Given the description of an element on the screen output the (x, y) to click on. 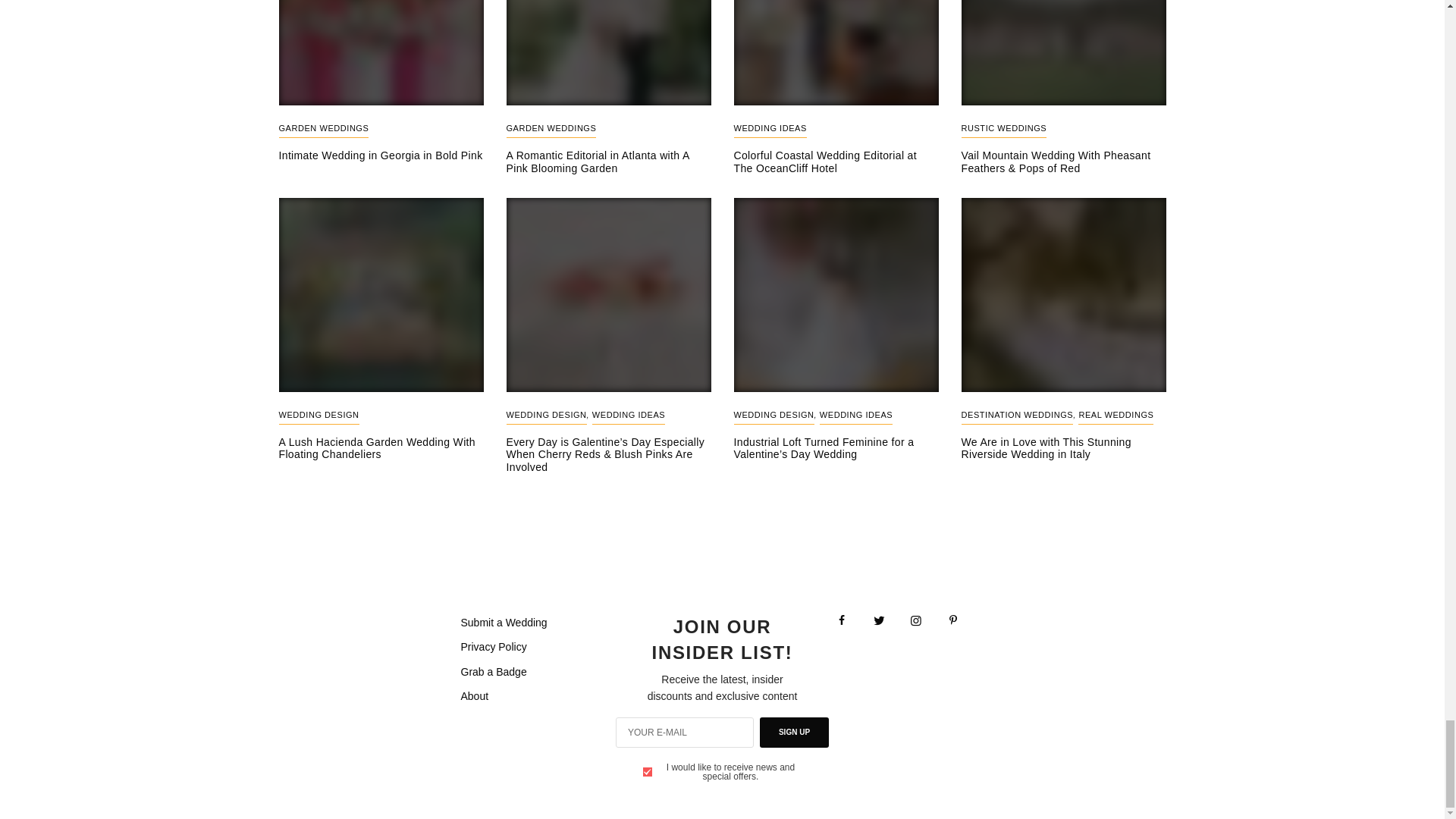
A Romantic Editorial in Atlanta with A Pink Blooming Garden (608, 162)
Intimate Wedding in Georgia in Bold Pink (381, 155)
